Given the description of an element on the screen output the (x, y) to click on. 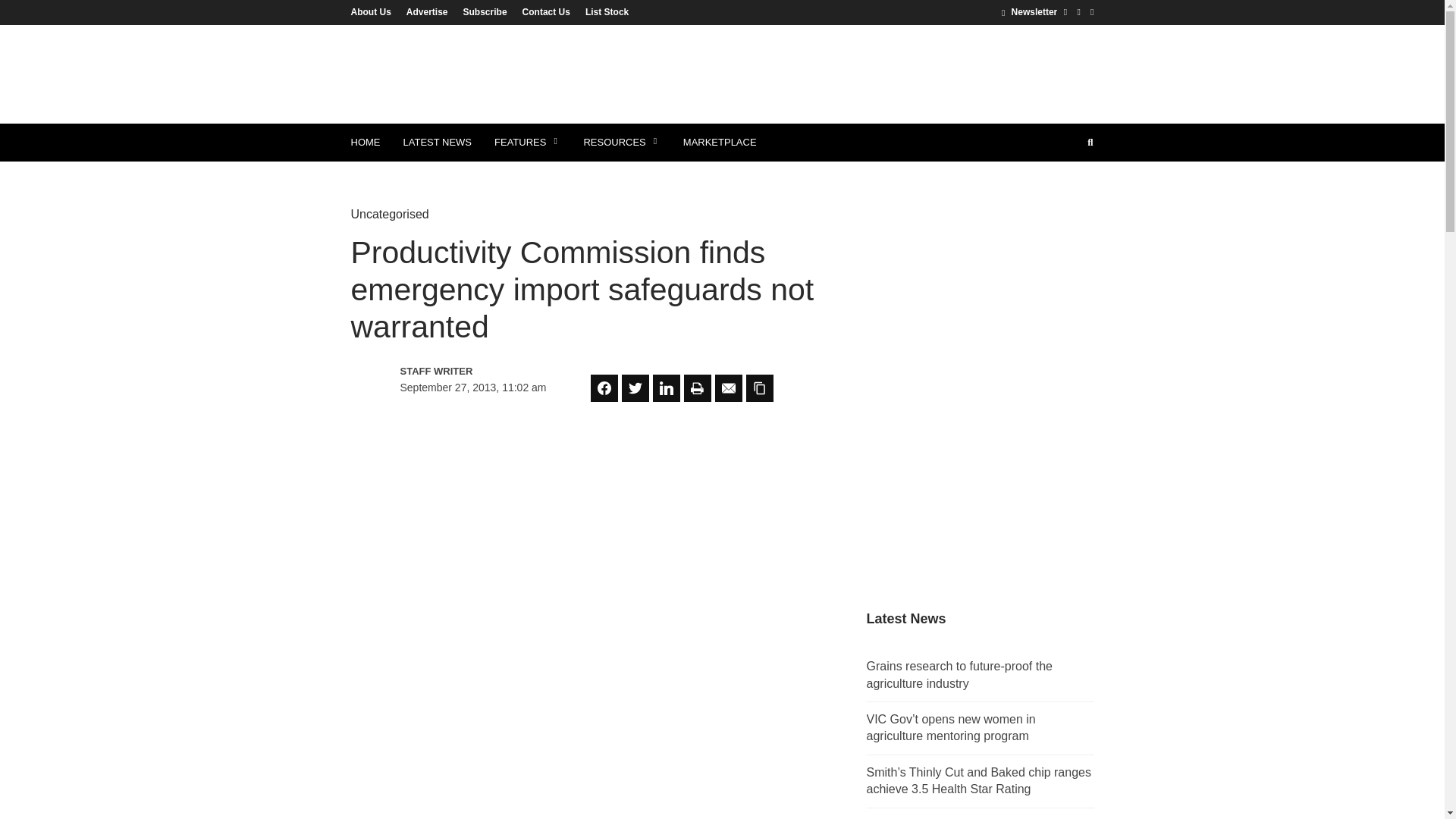
Newsletter (1029, 11)
List Stock (603, 11)
Contact Us (546, 11)
Subscribe (485, 11)
MARKETPLACE (719, 142)
Share on Twitter (635, 388)
FEATURES (527, 142)
STAFF WRITER (465, 371)
RESOURCES (621, 142)
Share on Copy Link (759, 388)
